Given the description of an element on the screen output the (x, y) to click on. 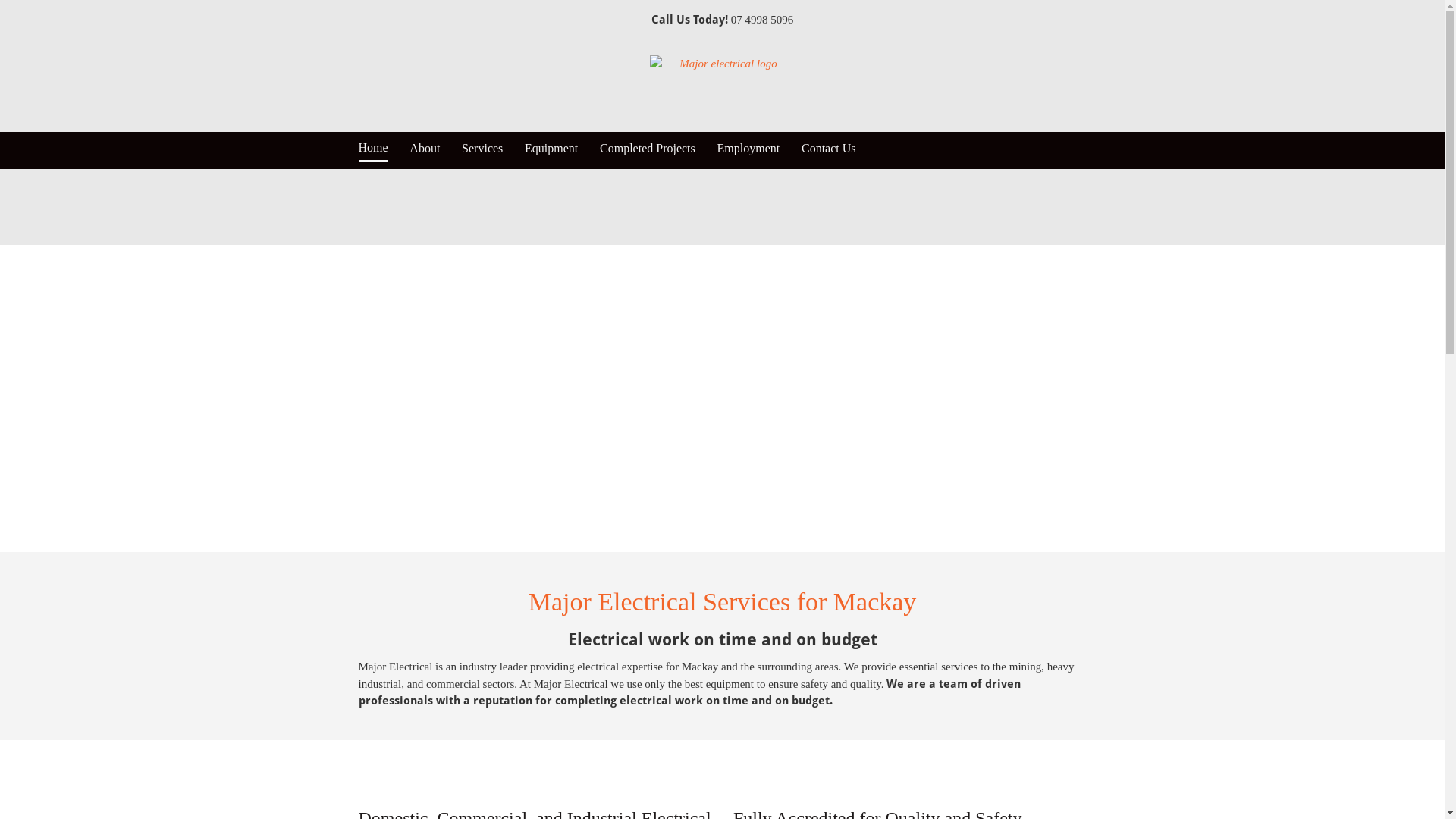
Contact Us Element type: text (828, 149)
About Element type: text (424, 149)
Home Element type: text (372, 150)
Services Element type: text (481, 149)
Equipment Element type: text (550, 149)
Completed Projects Element type: text (647, 149)
Employment Element type: text (748, 149)
